Given the description of an element on the screen output the (x, y) to click on. 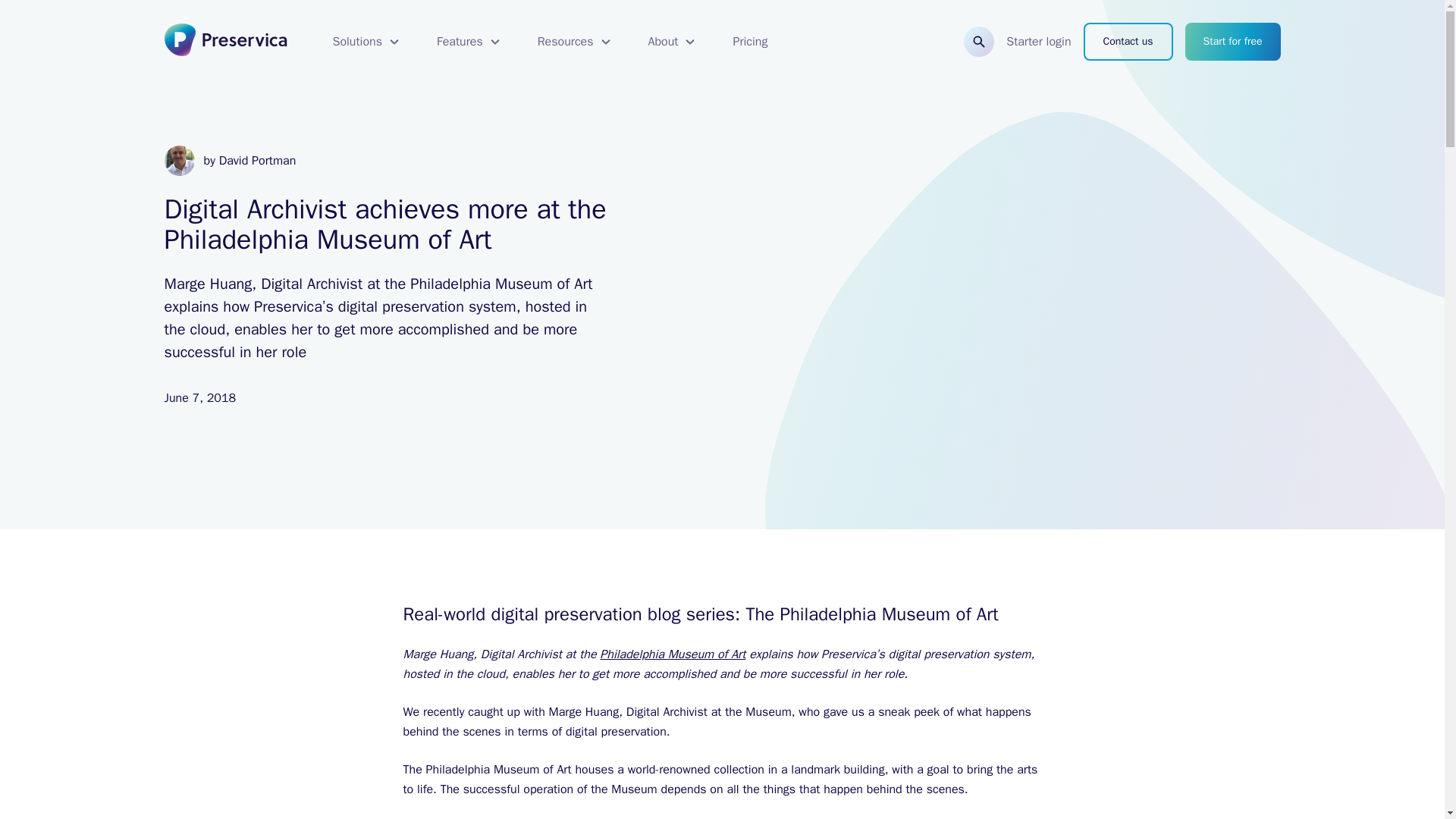
Solutions (366, 41)
Resources (574, 41)
About (671, 41)
Features (469, 41)
